Given the description of an element on the screen output the (x, y) to click on. 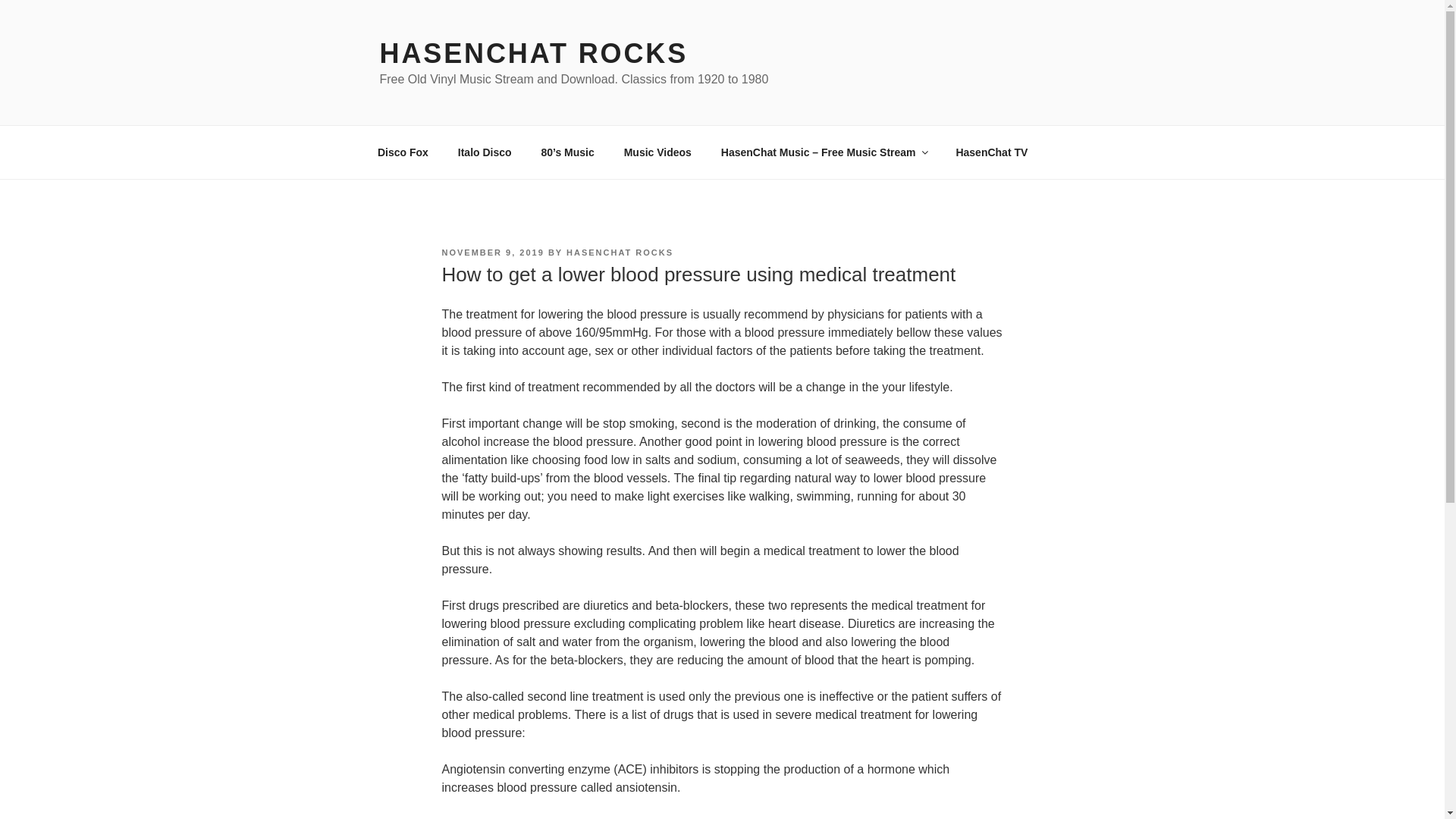
Music Videos (657, 151)
HASENCHAT ROCKS (532, 52)
HASENCHAT ROCKS (619, 252)
Disco Fox (402, 151)
Italo Disco (484, 151)
HasenChat TV (991, 151)
NOVEMBER 9, 2019 (492, 252)
